Given the description of an element on the screen output the (x, y) to click on. 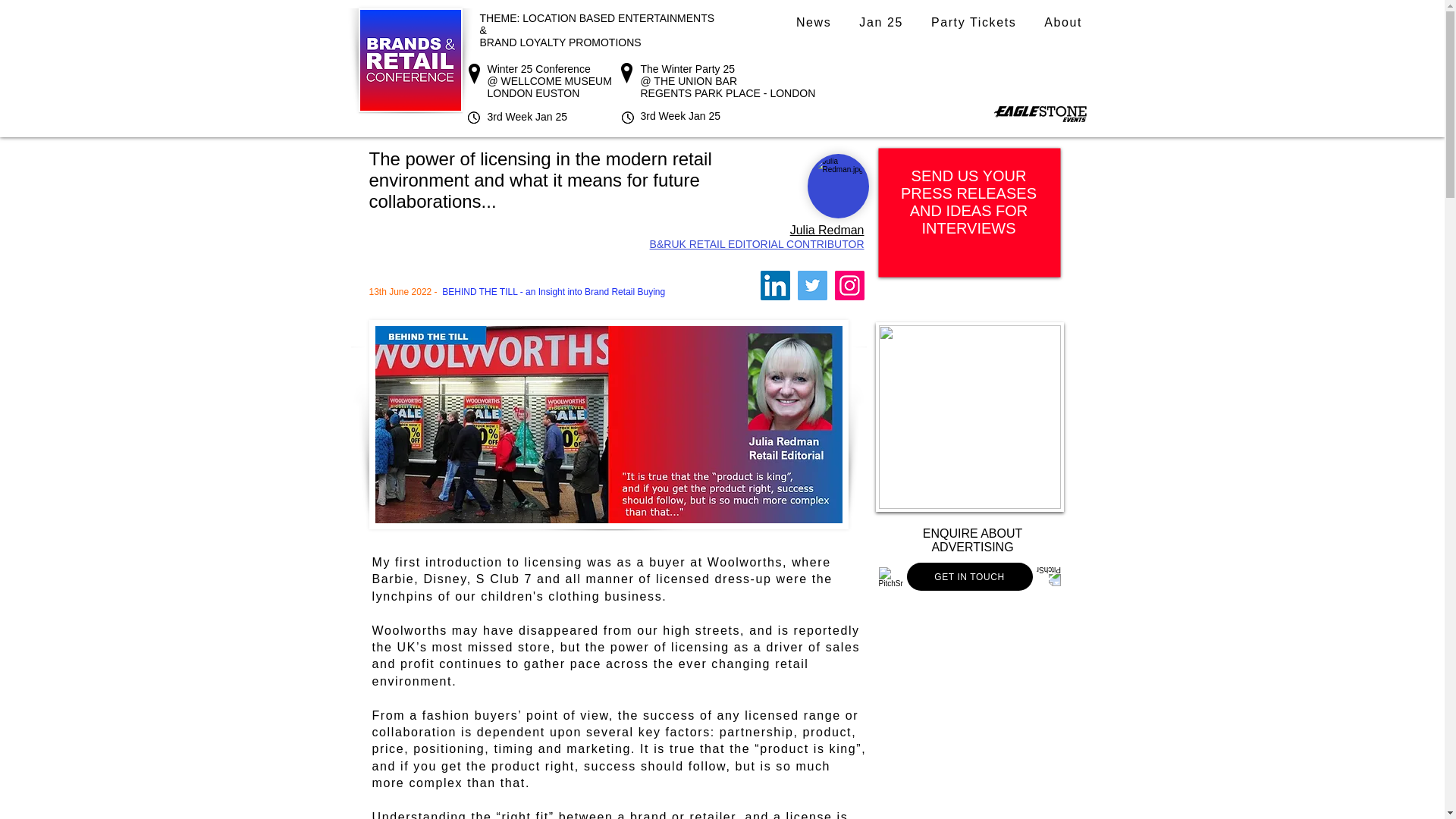
Party Tickets (973, 23)
News (814, 23)
About (1063, 23)
GET IN TOUCH (969, 576)
Jan 25 (881, 23)
